Given the description of an element on the screen output the (x, y) to click on. 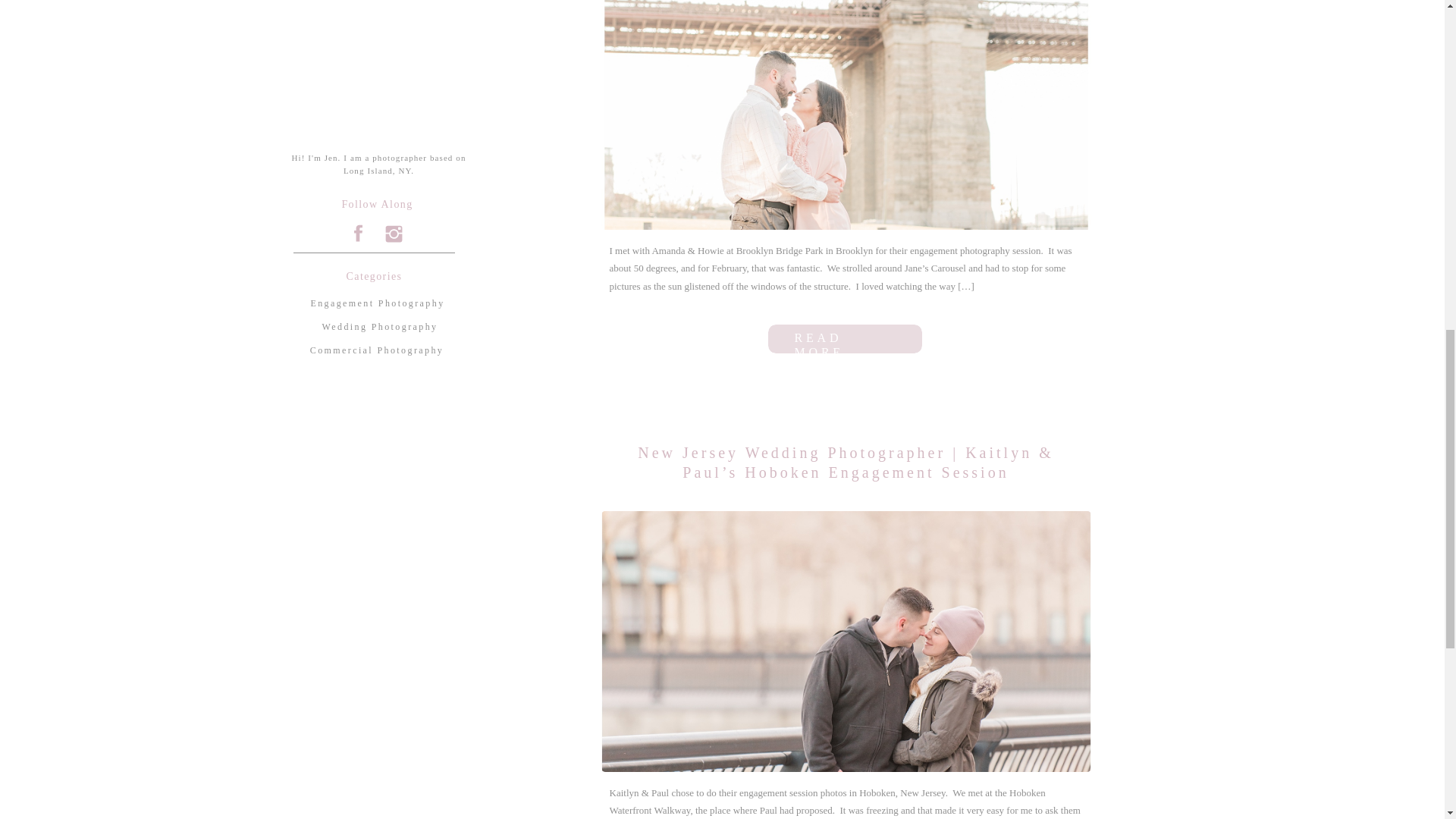
Commercial Photography (376, 350)
Engagement Photography (377, 303)
Wedding Photography (379, 327)
READ MORE (846, 338)
